Given the description of an element on the screen output the (x, y) to click on. 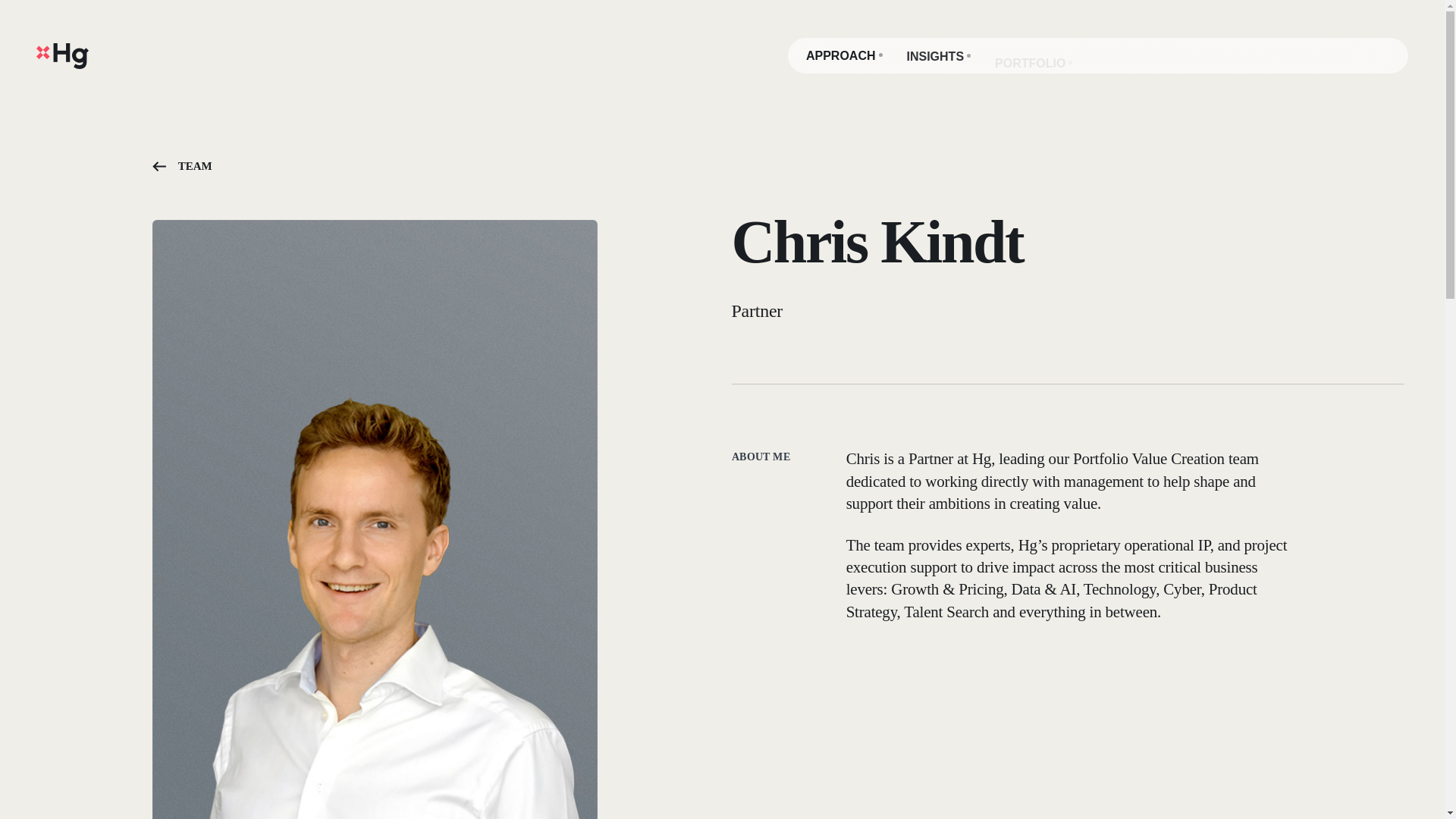
TEAM (1117, 62)
INSIGHTS (939, 55)
PORTFOLIO (1033, 62)
TEAM (182, 167)
APPROACH (844, 55)
